Given the description of an element on the screen output the (x, y) to click on. 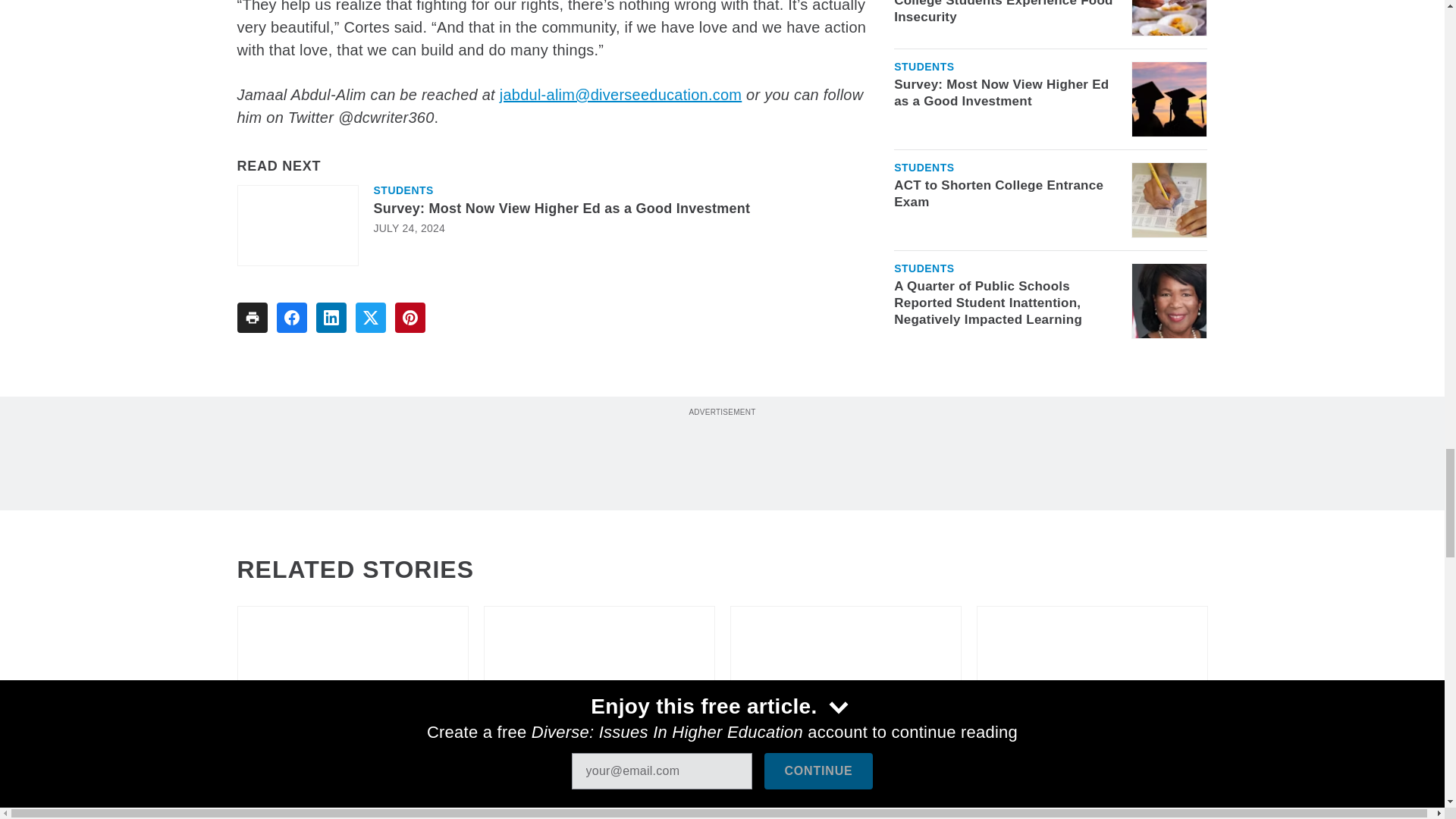
Share To print (250, 317)
Share To facebook (290, 317)
Students (402, 190)
